Given the description of an element on the screen output the (x, y) to click on. 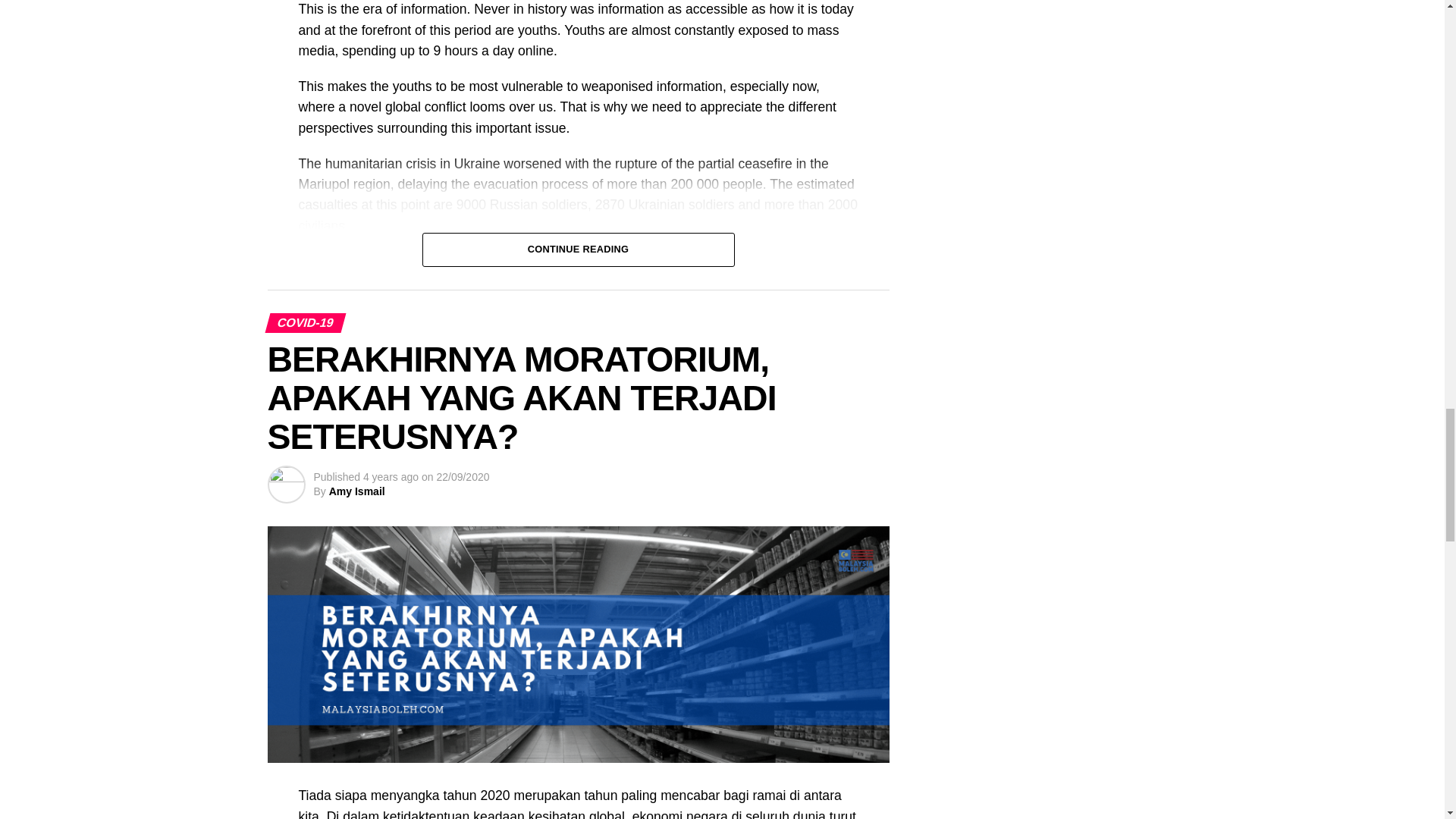
Posts by Amy Ismail (357, 491)
Amy Ismail (357, 491)
CONTINUE READING (577, 247)
